Given the description of an element on the screen output the (x, y) to click on. 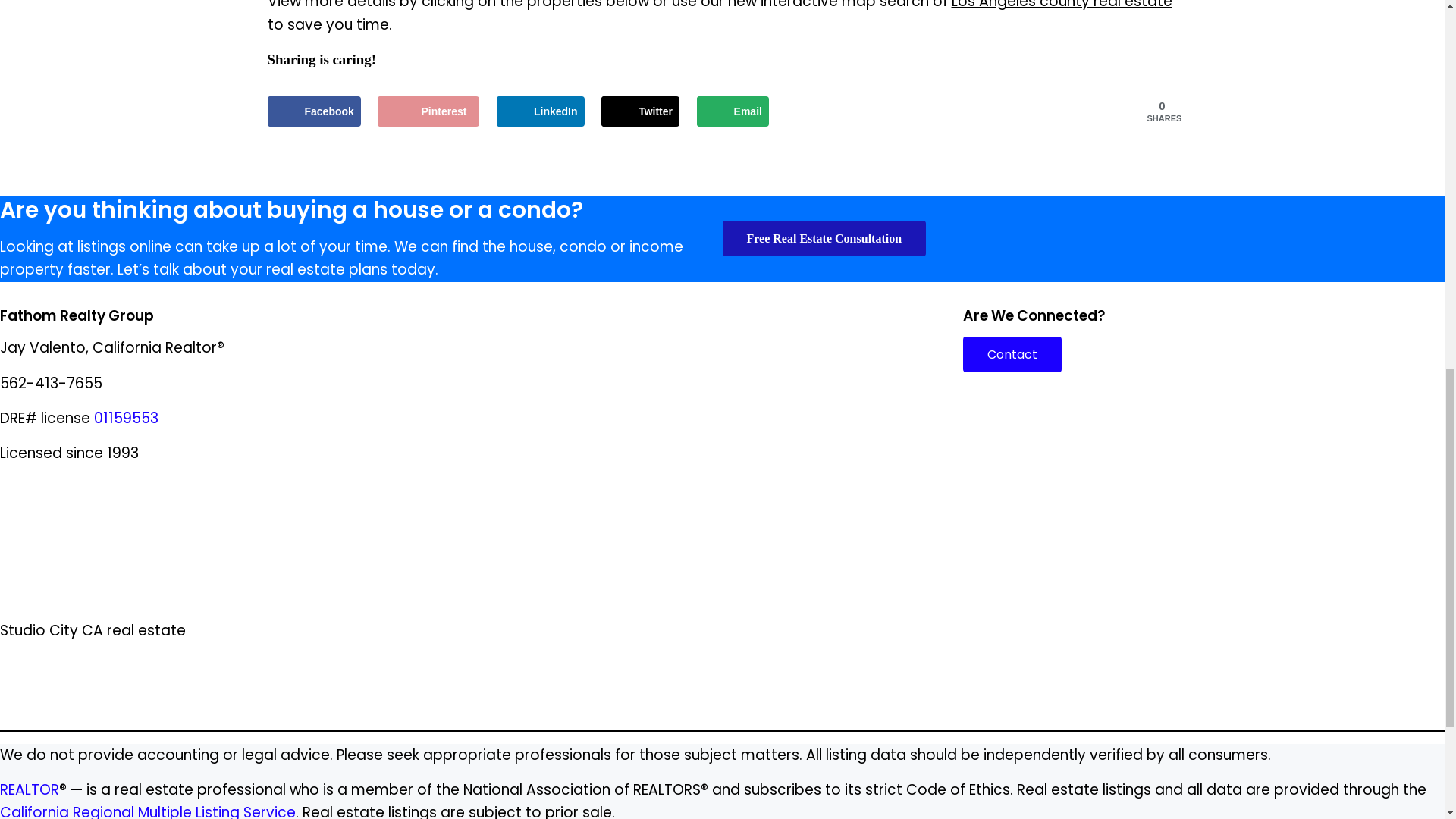
Pinterest (428, 111)
Twitter (640, 111)
California Regional Multiple Listing Service (147, 810)
Save to Pinterest (428, 111)
REALTOR (29, 789)
Contact (1011, 353)
Facebook (312, 111)
Email (732, 111)
Free Real Estate Consultation (824, 237)
Send over email (732, 111)
Share on Facebook (312, 111)
Share on X (640, 111)
LinkedIn (540, 111)
Share on LinkedIn (540, 111)
01159553 (126, 417)
